Given the description of an element on the screen output the (x, y) to click on. 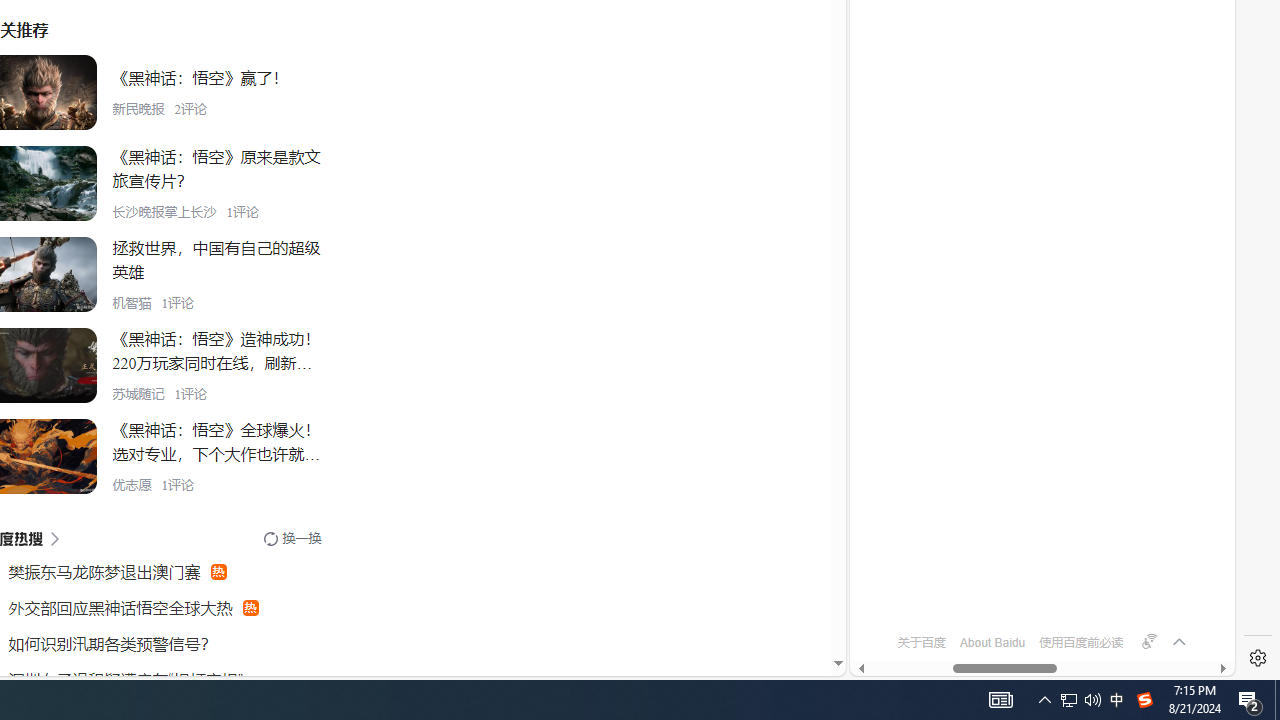
OFTV - Enjoy videos from your favorite OF creators! (1034, 604)
